Given the description of an element on the screen output the (x, y) to click on. 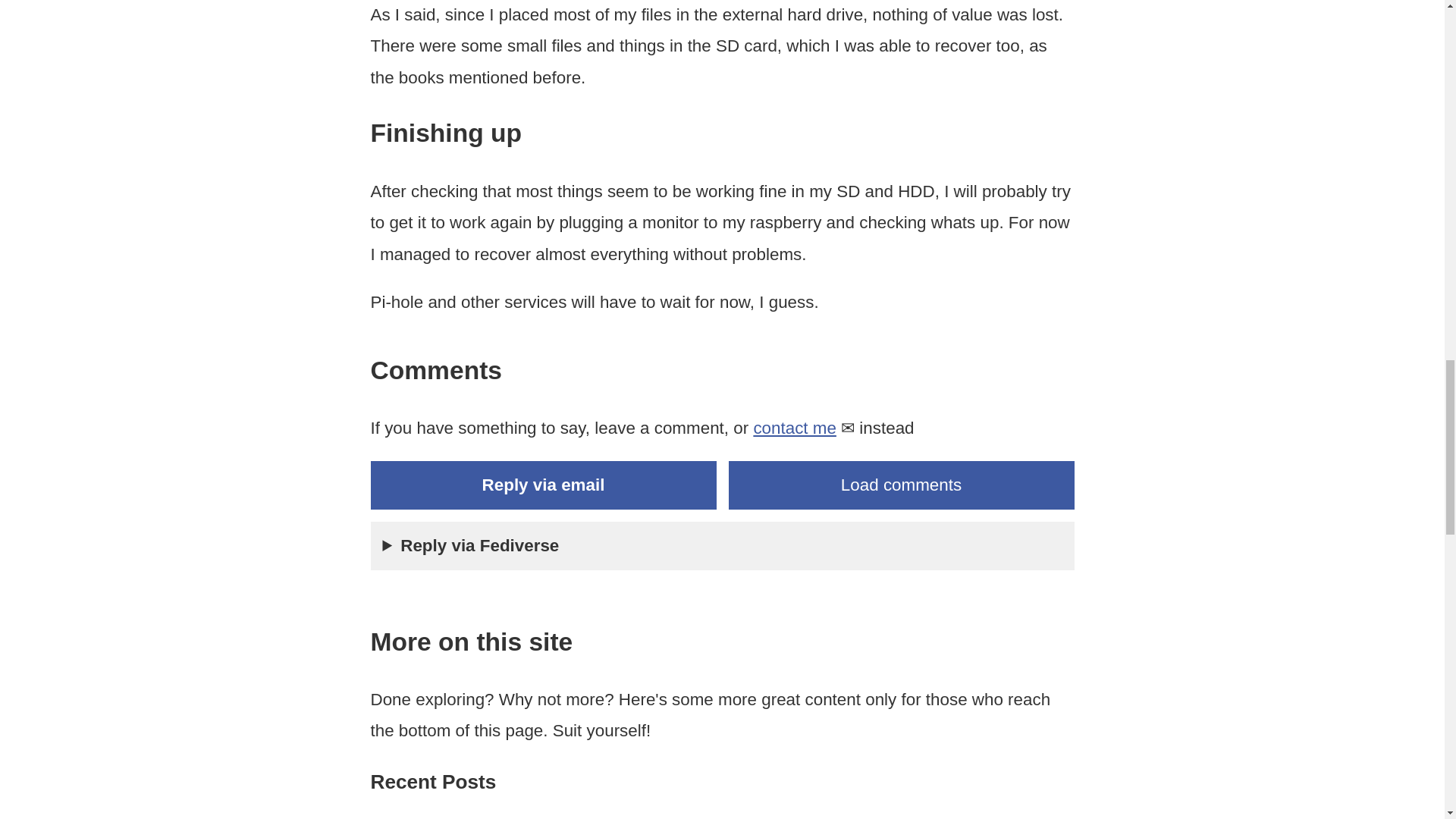
contact me (793, 427)
Load comments (901, 485)
Reply via email (542, 485)
